Given the description of an element on the screen output the (x, y) to click on. 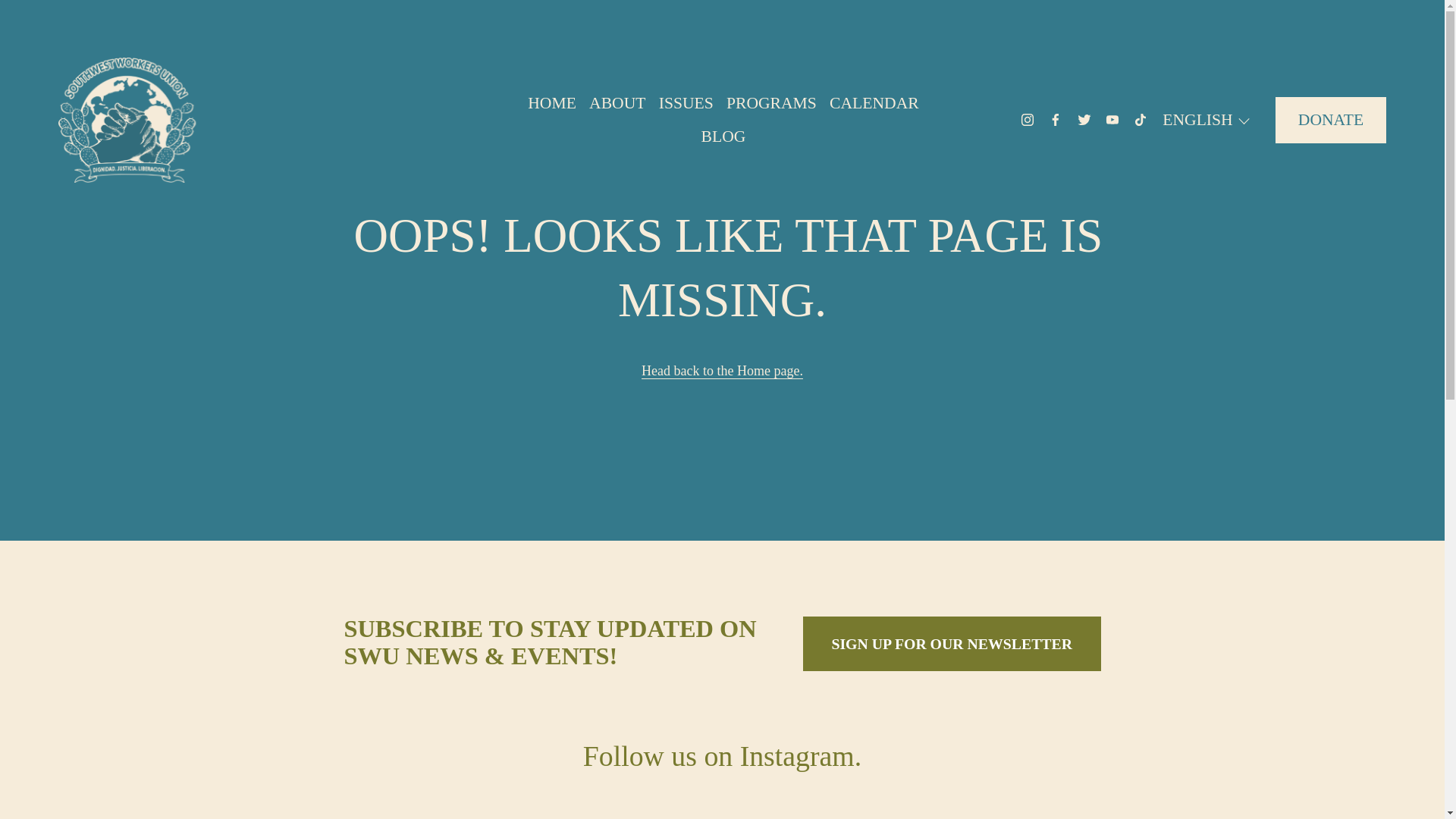
ISSUES (686, 102)
PROGRAMS (771, 102)
BLOG (723, 135)
HOME (551, 102)
DONATE (1330, 120)
CALENDAR (873, 102)
ABOUT (617, 102)
